Given the description of an element on the screen output the (x, y) to click on. 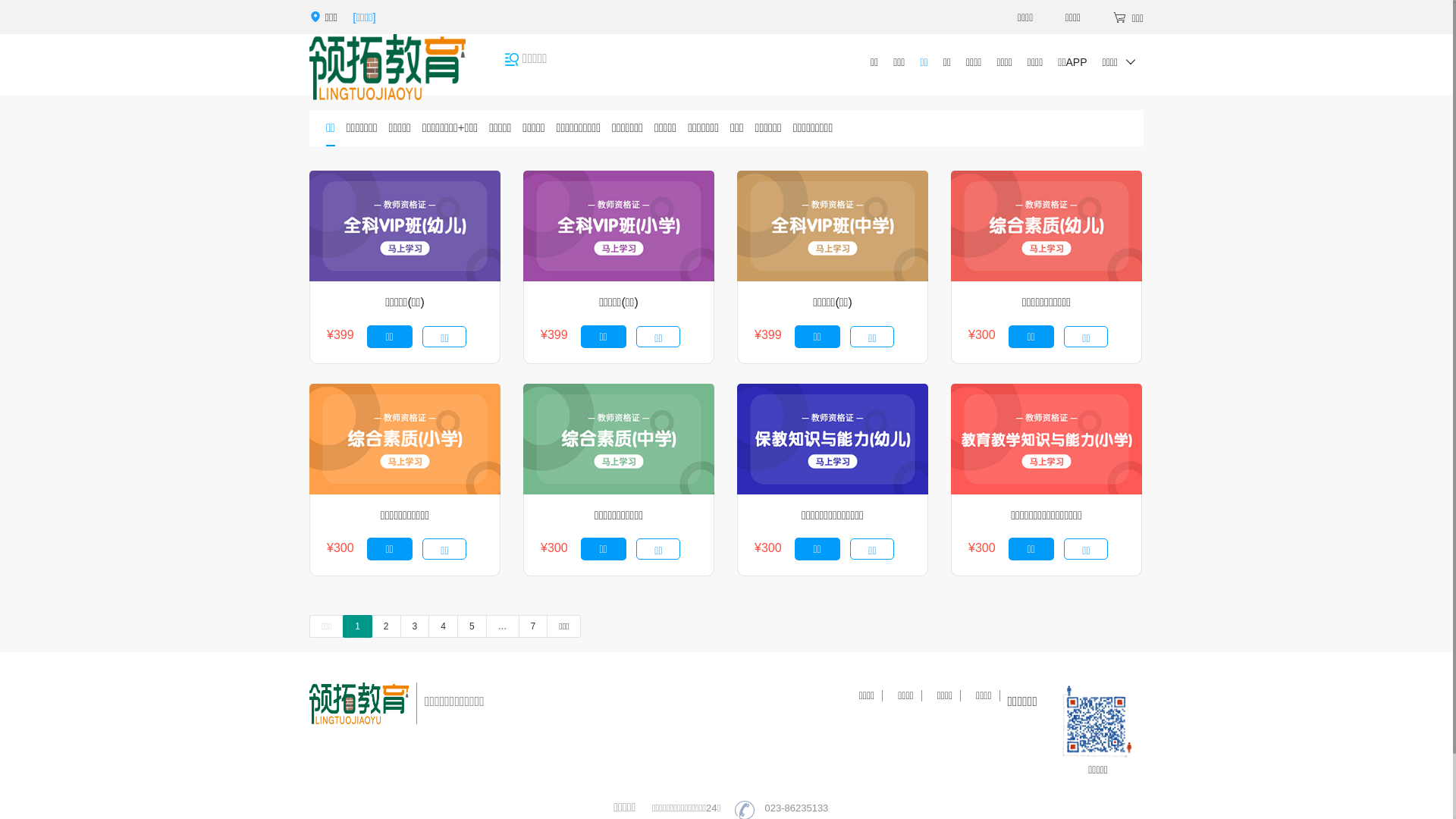
3 Element type: text (414, 626)
7 Element type: text (533, 626)
4 Element type: text (443, 626)
2 Element type: text (386, 626)
5 Element type: text (471, 626)
